Given the description of an element on the screen output the (x, y) to click on. 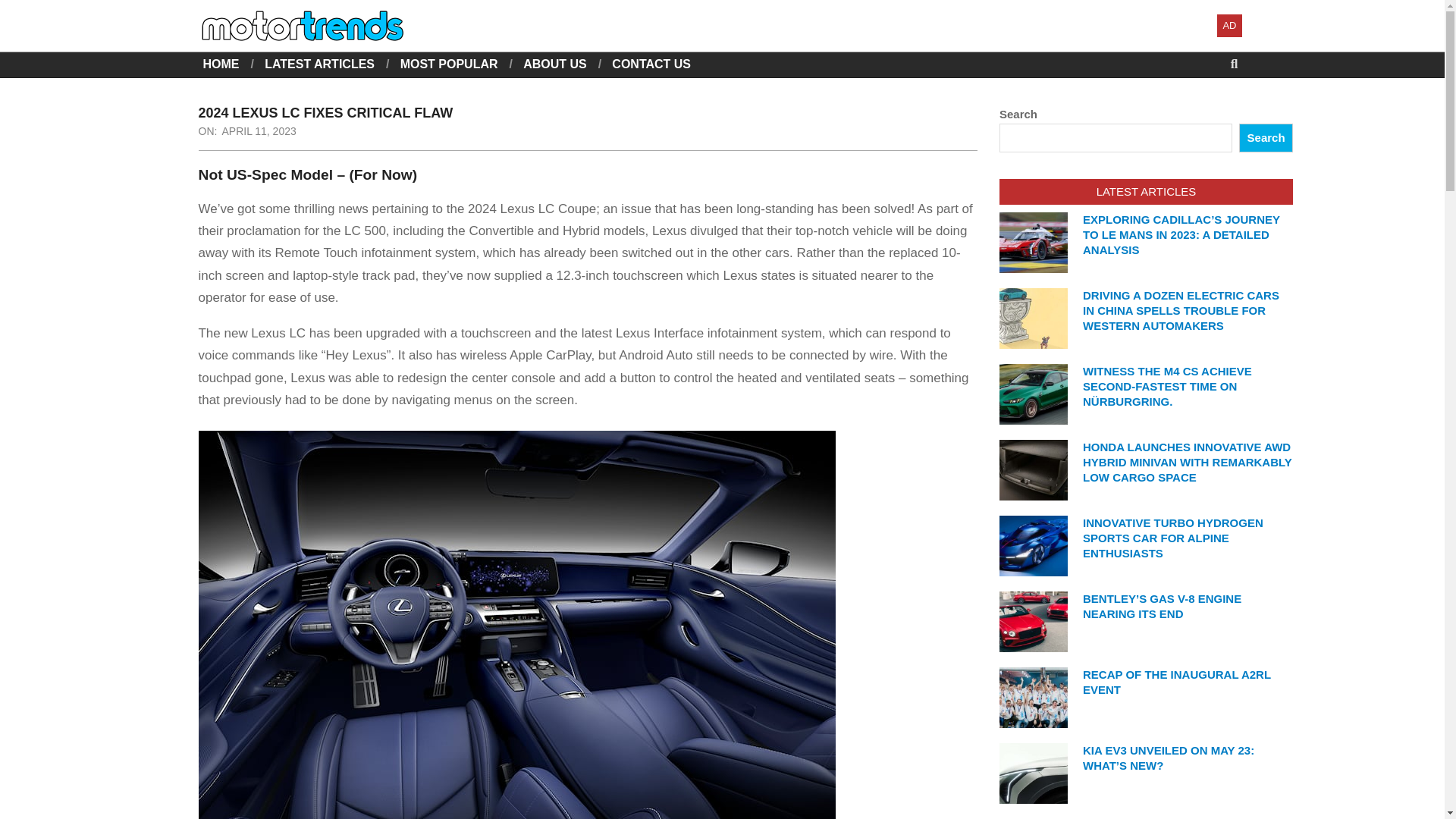
LATEST ARTICLES (319, 63)
INNOVATIVE TURBO HYDROGEN SPORTS CAR FOR ALPINE ENTHUSIASTS (1173, 537)
Tuesday, April 11, 2023, 2:13 pm (258, 131)
MOST POPULAR (448, 63)
RECAP OF THE INAUGURAL A2RL EVENT (1177, 682)
Search (1265, 137)
HOME (221, 63)
Search (24, 9)
ABOUT US (554, 63)
CONTACT US (650, 63)
